Given the description of an element on the screen output the (x, y) to click on. 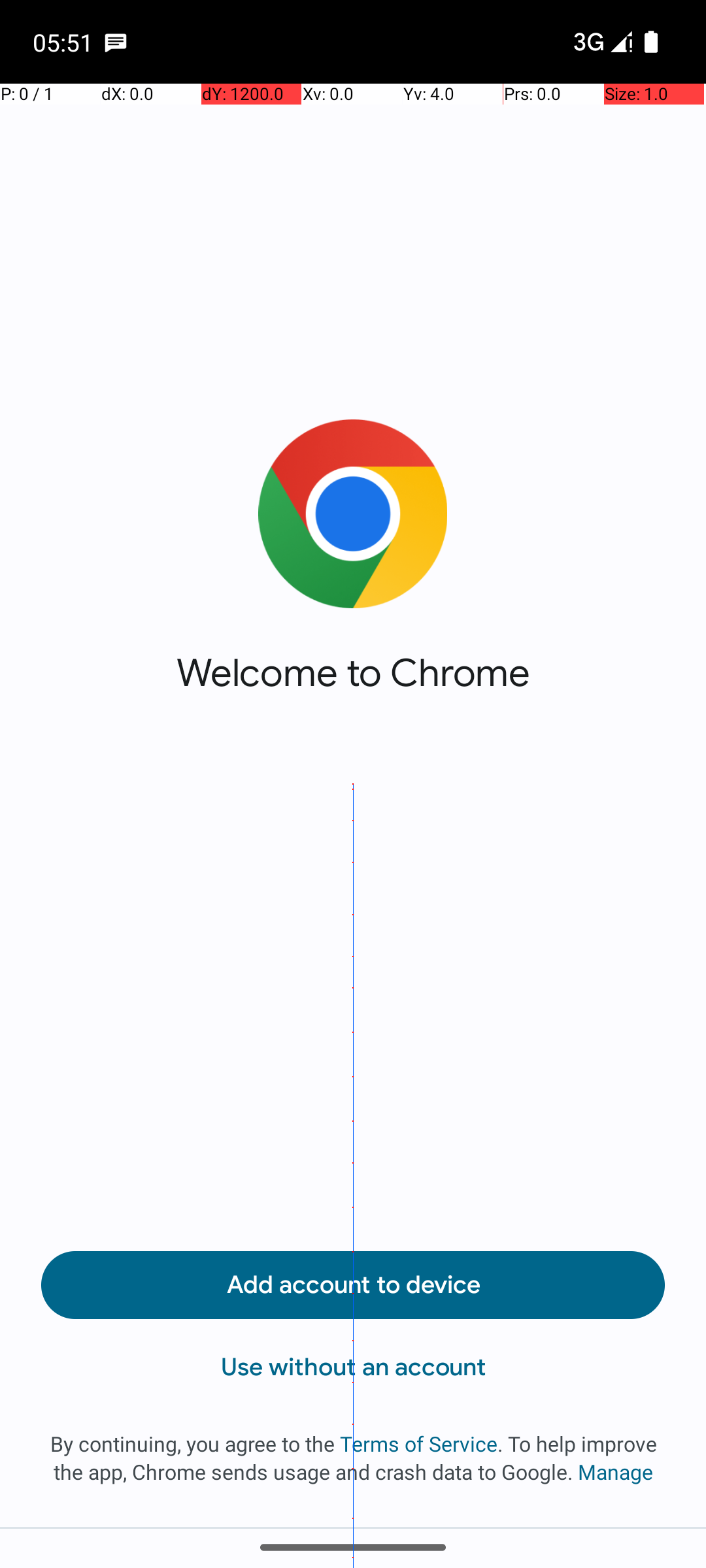
05:51 Element type: android.widget.TextView (64, 41)
